Given the description of an element on the screen output the (x, y) to click on. 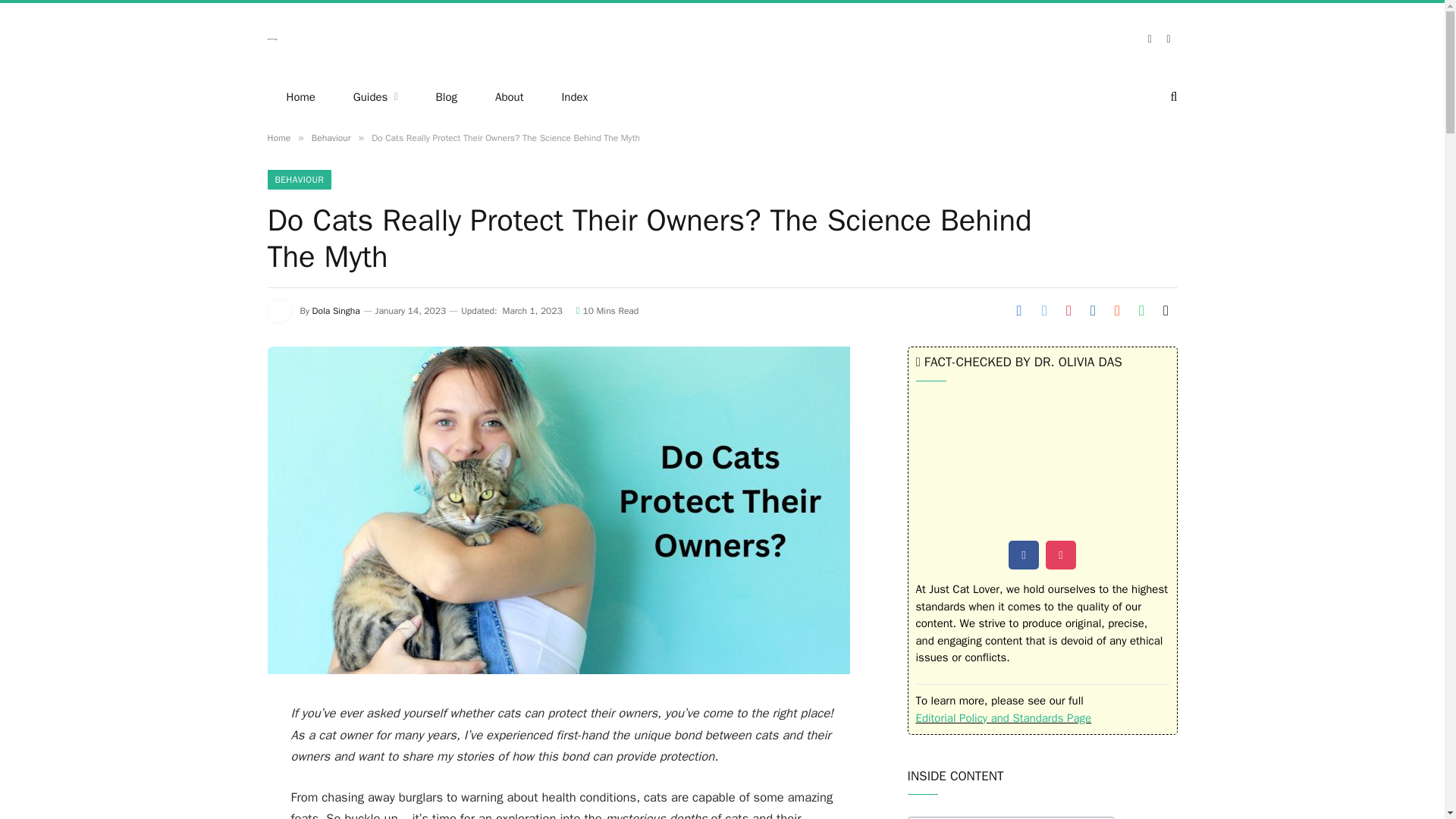
Posts by Dola Singha (336, 310)
Share on Pinterest (1068, 310)
Blog (446, 96)
Share on LinkedIn (1092, 310)
Share on Facebook (1019, 310)
Home (299, 96)
BEHAVIOUR (298, 179)
Behaviour (330, 137)
Home (277, 137)
Dola Singha (336, 310)
